Given the description of an element on the screen output the (x, y) to click on. 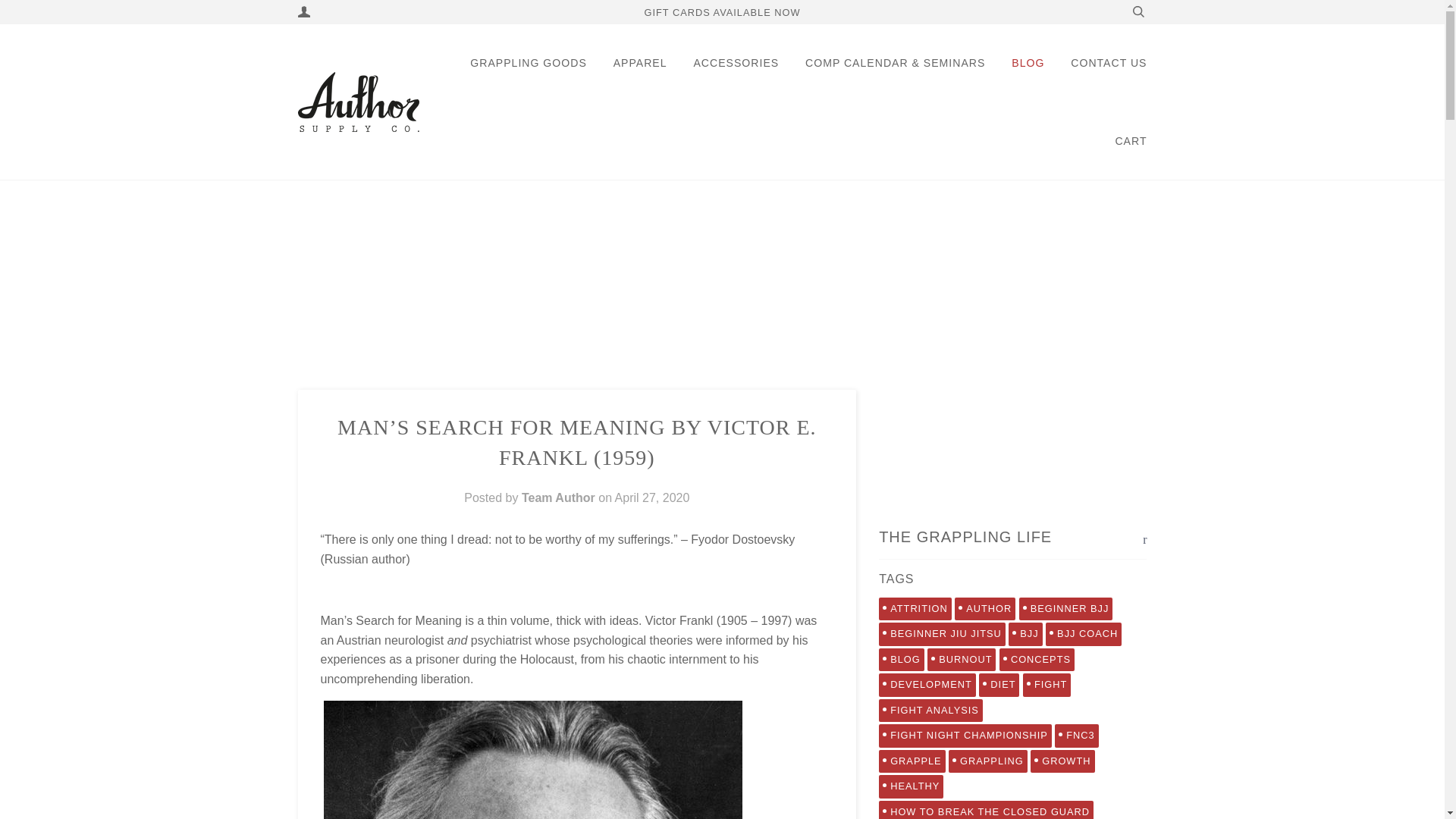
GIFT CARDS AVAILABLE NOW (721, 12)
CONTACT US (1108, 63)
ACCESSORIES (735, 63)
GRAPPLING GOODS (528, 63)
